Given the description of an element on the screen output the (x, y) to click on. 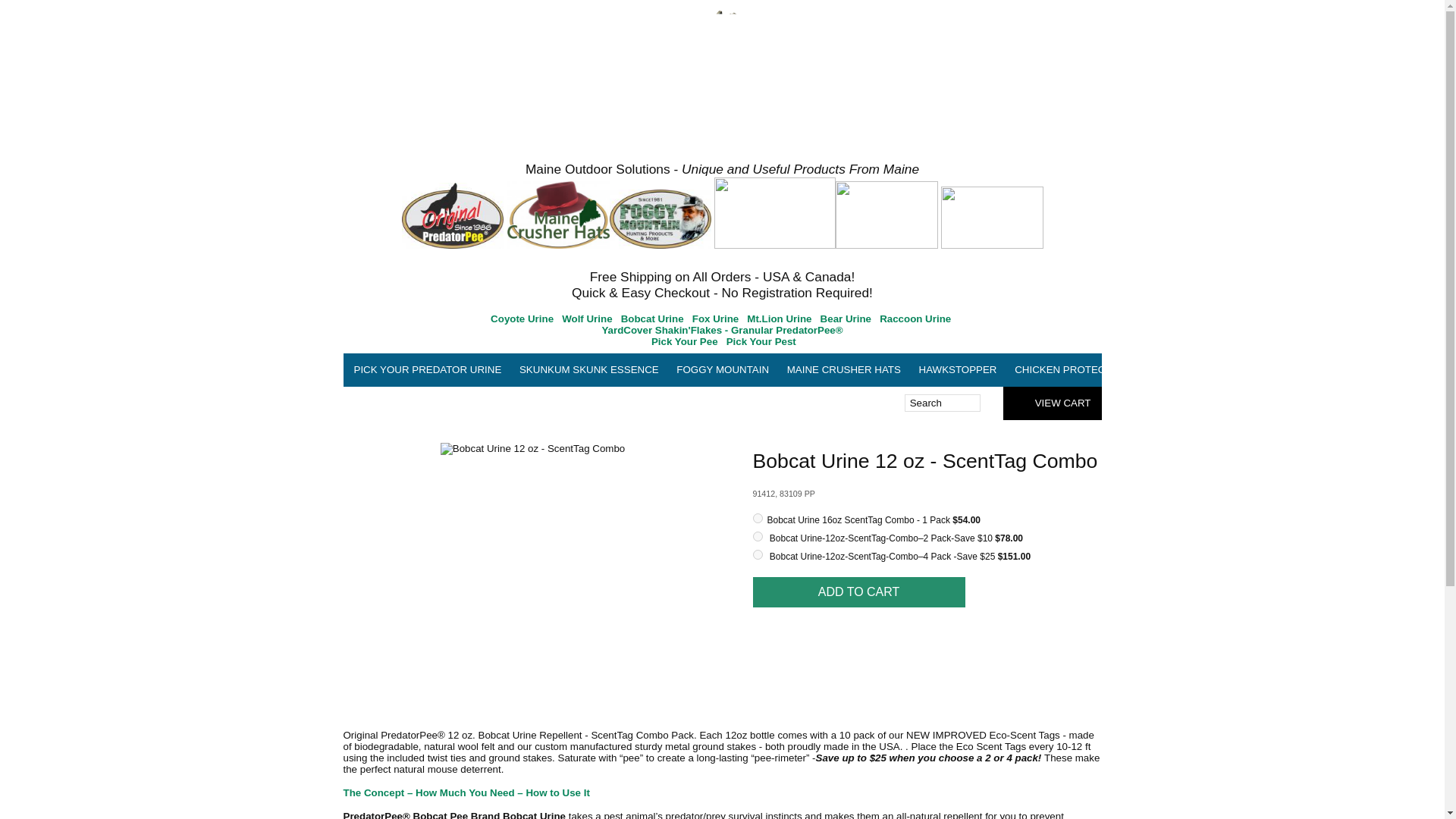
Go (987, 403)
Stop Wire Chewing (1426, 369)
380 (756, 536)
HawkStopper (957, 369)
Pick Your Pest (759, 341)
Fox Urine (715, 318)
Pick Your Predator Urine (427, 369)
Add To Cart (857, 592)
Maine Crusher Hats (843, 369)
COYOTE DETERRENT (1201, 369)
